Given the description of an element on the screen output the (x, y) to click on. 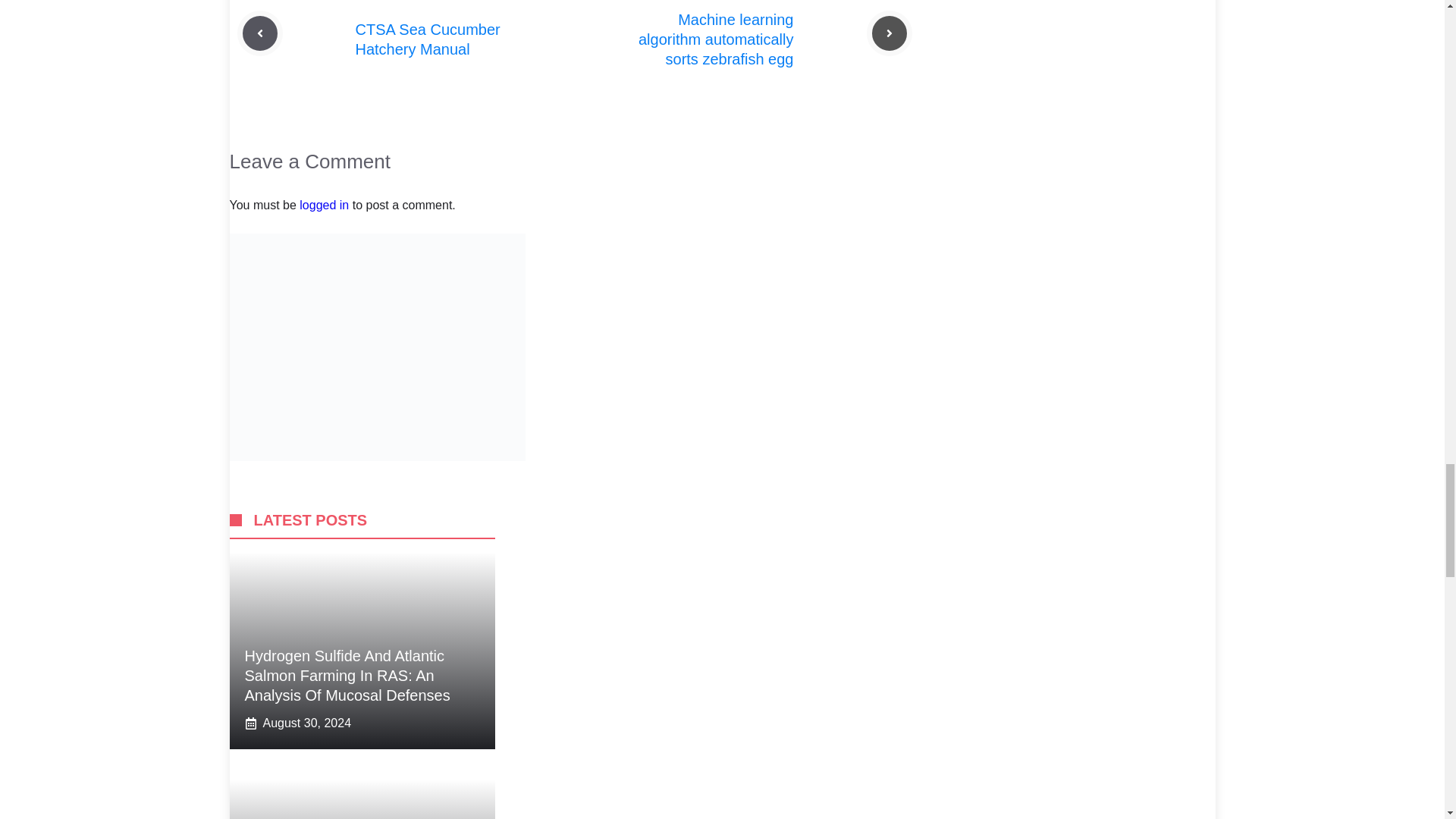
CTSA Sea Cucumber Hatchery Manual (427, 39)
logged in (324, 205)
Machine learning algorithm automatically sorts zebrafish egg (716, 39)
